Given the description of an element on the screen output the (x, y) to click on. 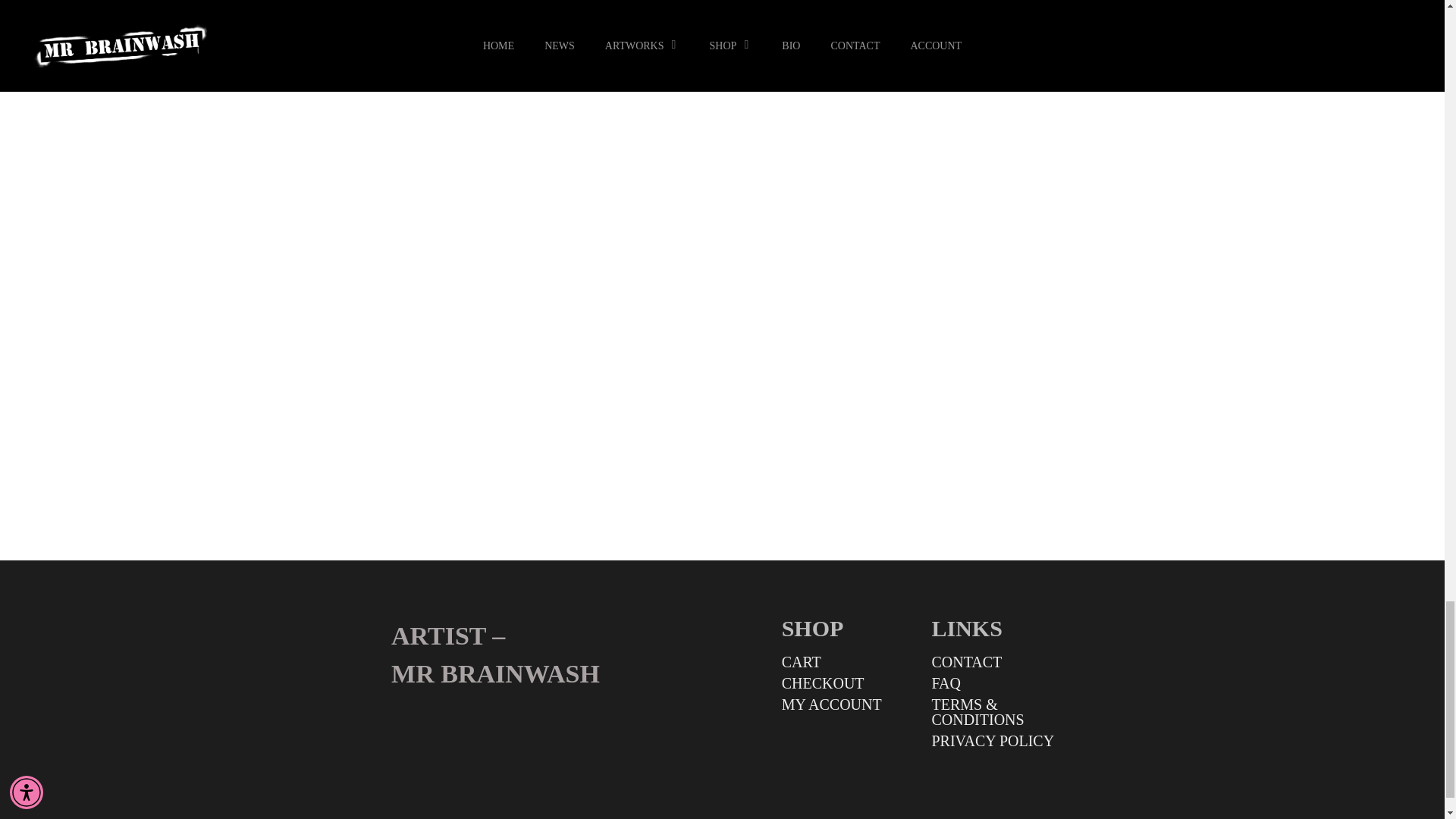
PRIVACY POLICY (999, 740)
CHECKOUT (849, 683)
CONTACT (999, 661)
MY ACCOUNT (849, 703)
FAQ (999, 683)
CART (849, 661)
